Given the description of an element on the screen output the (x, y) to click on. 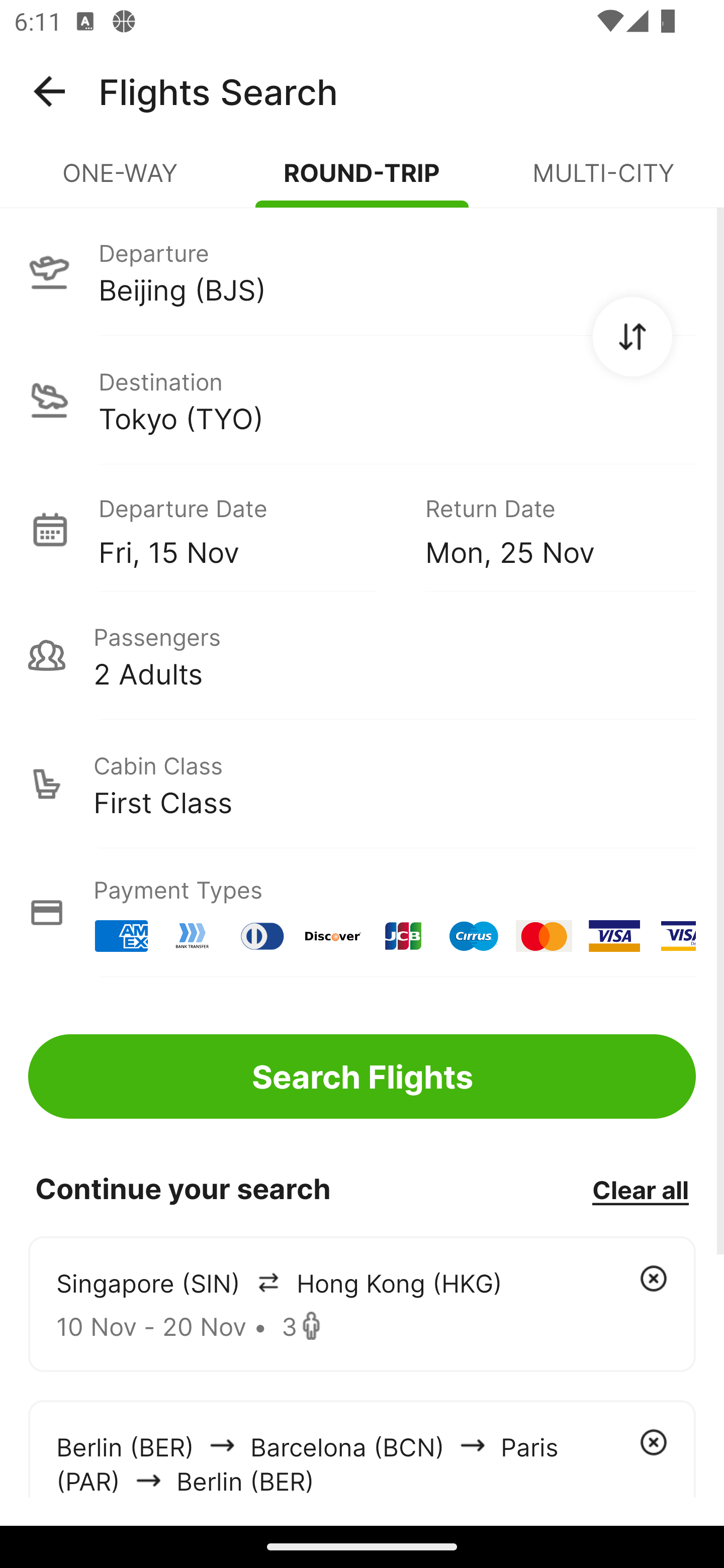
ONE-WAY (120, 180)
ROUND-TRIP (361, 180)
MULTI-CITY (603, 180)
Departure Beijing (BJS) (362, 270)
Destination Tokyo (TYO) (362, 400)
Departure Date Fri, 15 Nov (247, 528)
Return Date Mon, 25 Nov (546, 528)
Passengers 2 Adults (362, 655)
Cabin Class First Class (362, 783)
Payment Types (362, 912)
Search Flights (361, 1075)
Clear all (640, 1189)
